Given the description of an element on the screen output the (x, y) to click on. 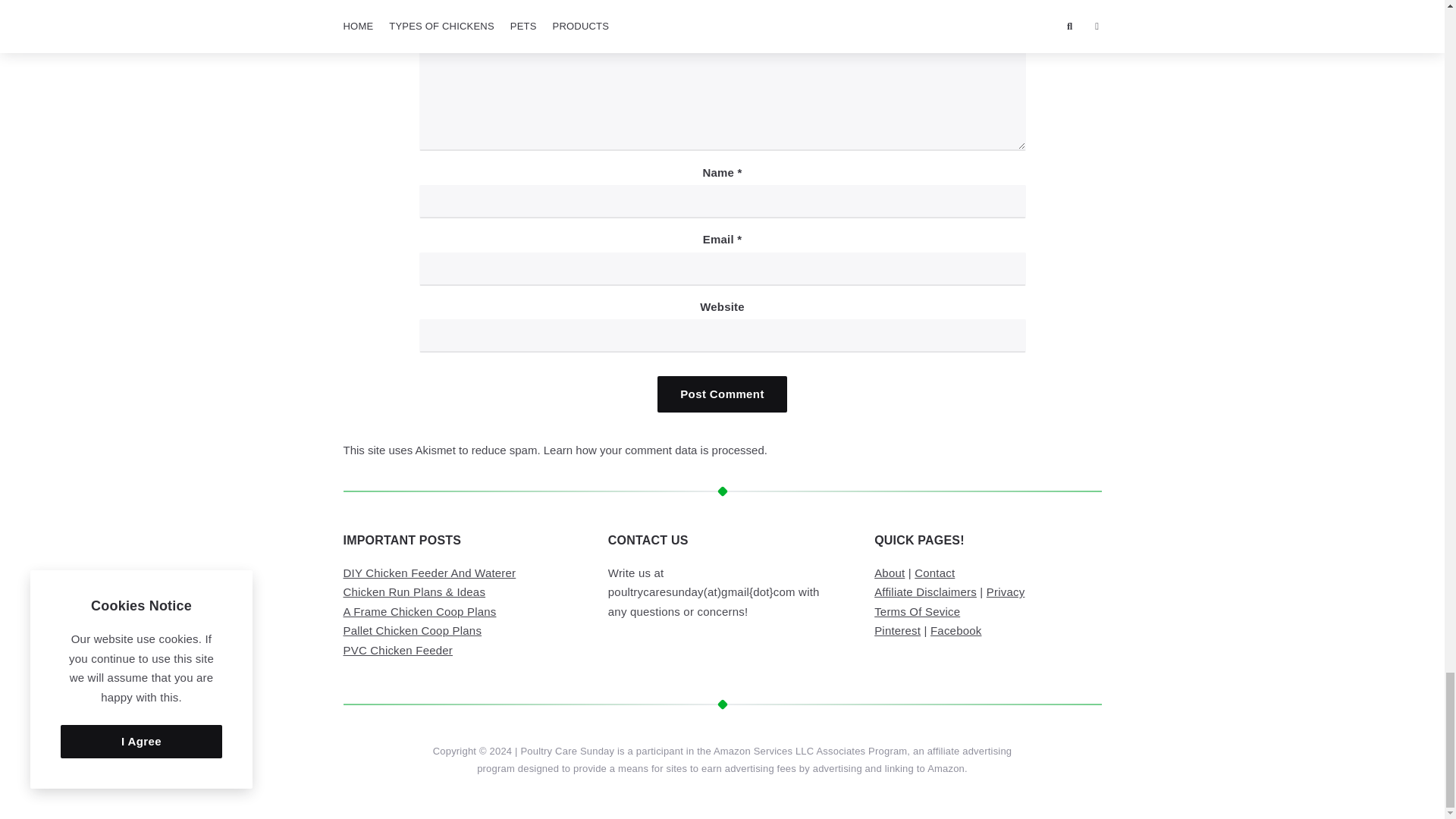
Post comment (722, 393)
